Given the description of an element on the screen output the (x, y) to click on. 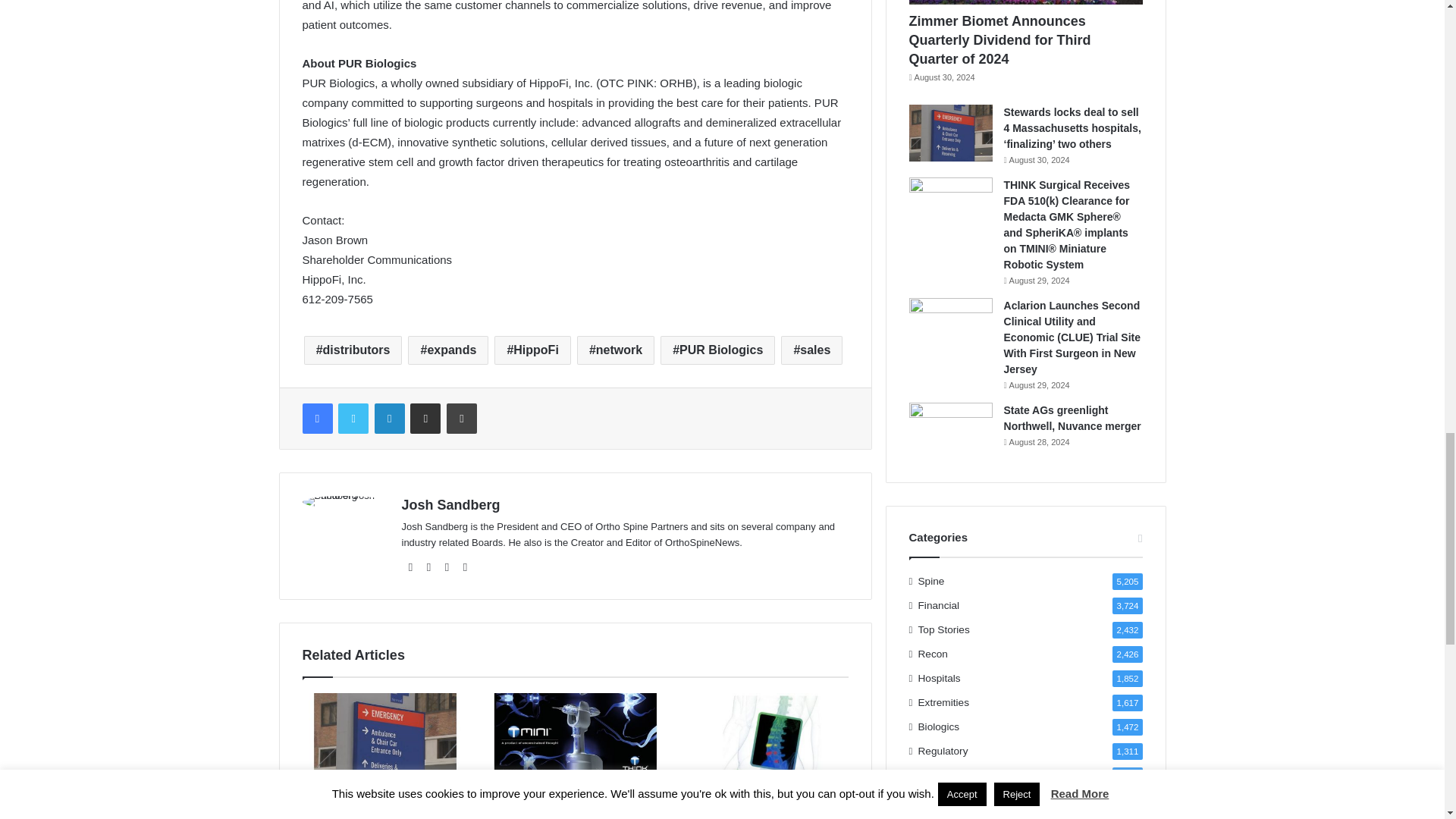
Share via Email (425, 418)
network (614, 349)
LinkedIn (389, 418)
Twitter (352, 418)
Print (461, 418)
expands (447, 349)
distributors (353, 349)
Facebook (316, 418)
HippoFi (532, 349)
